Given the description of an element on the screen output the (x, y) to click on. 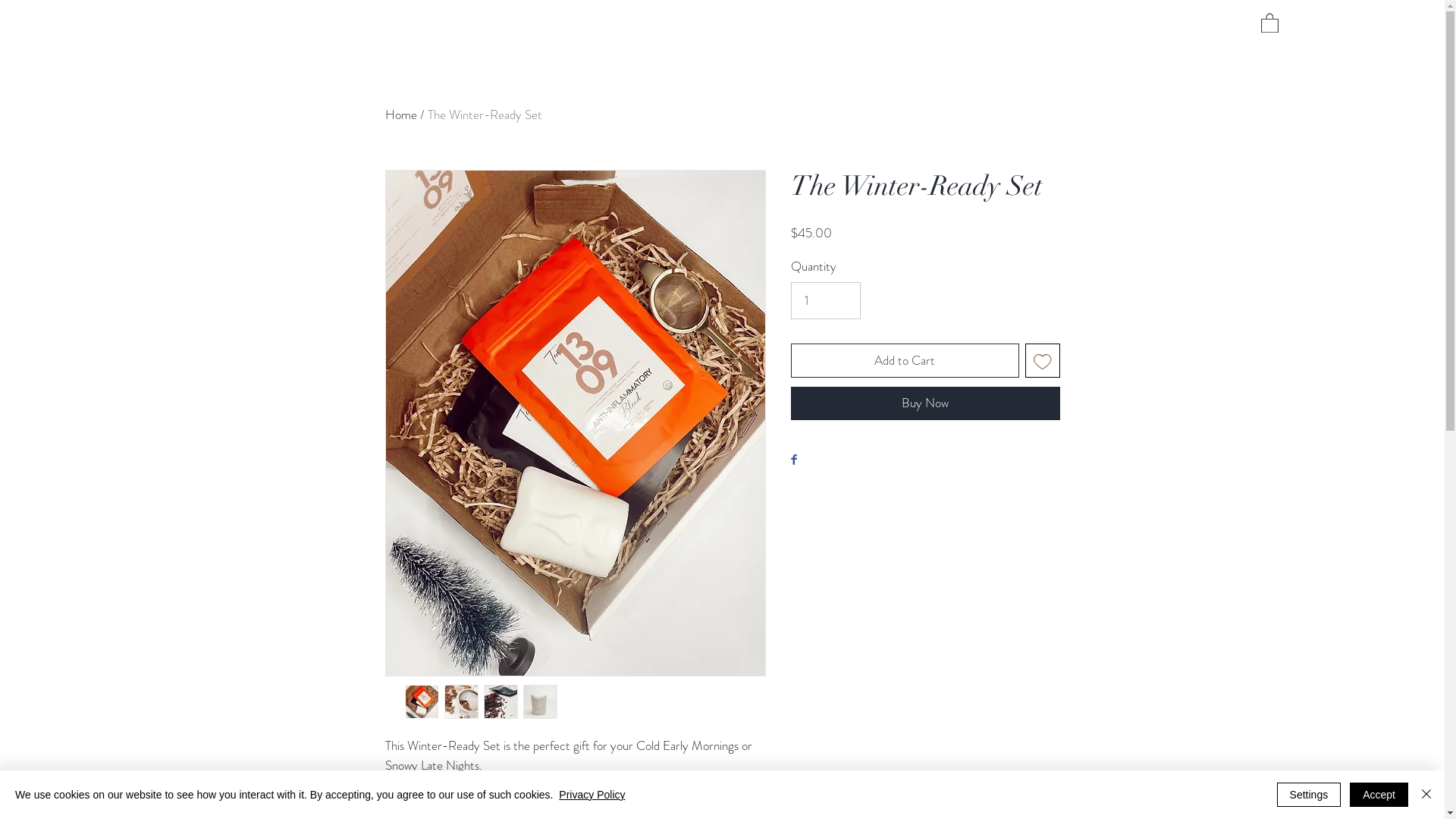
0 Element type: text (1268, 22)
The Winter-Ready Set Element type: text (484, 114)
Visitor Analytics Element type: hover (1442, 4)
Home Element type: text (401, 114)
Accept Element type: text (1378, 794)
Settings Element type: text (1309, 794)
Add to Cart Element type: text (904, 360)
Buy Now Element type: text (924, 403)
Privacy Policy Element type: text (591, 794)
